Given the description of an element on the screen output the (x, y) to click on. 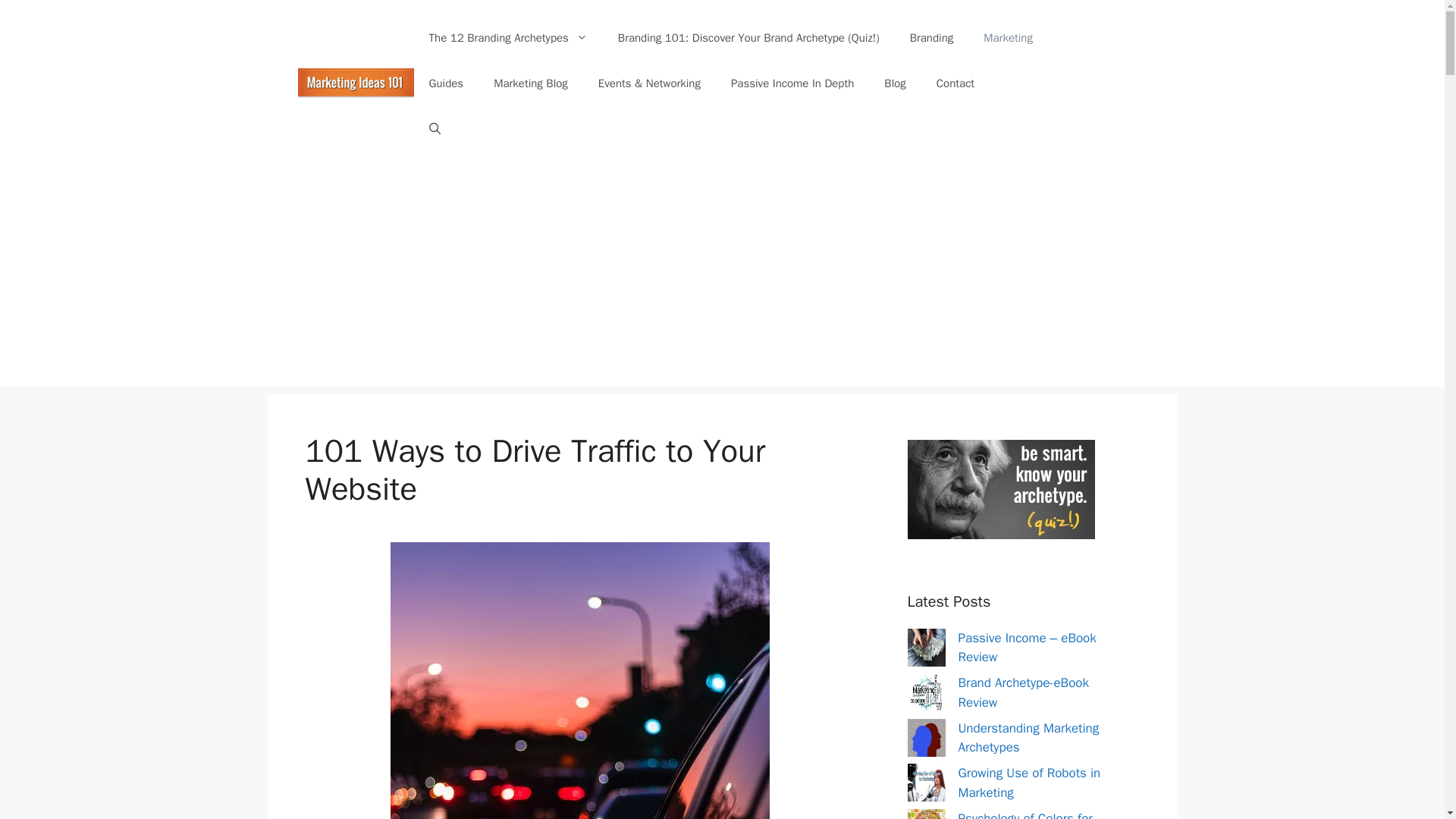
Branding (932, 37)
Marketing (1008, 37)
Contact (955, 83)
The 12 Branding Archetypes (507, 37)
Guides (446, 83)
Passive Income In Depth (792, 83)
Marketing Blog (531, 83)
Blog (894, 83)
